Given the description of an element on the screen output the (x, y) to click on. 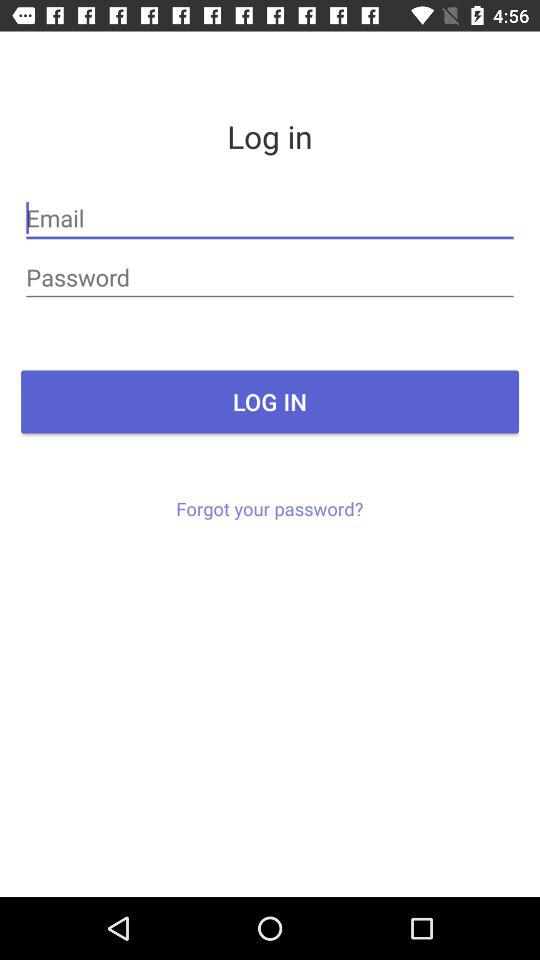
email (270, 218)
